Given the description of an element on the screen output the (x, y) to click on. 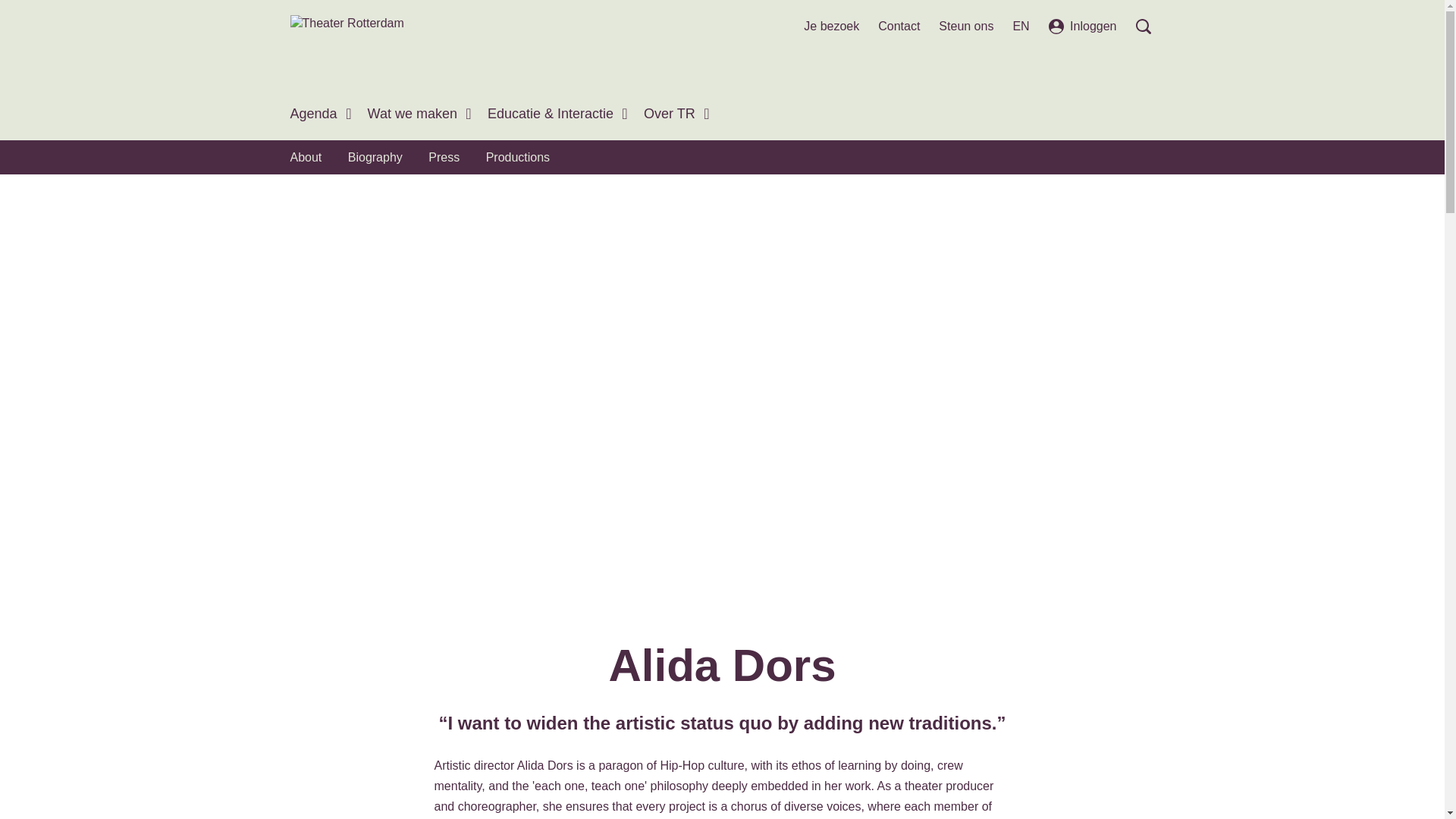
EN (1020, 26)
Contact (899, 26)
Inloggen (1083, 26)
Ga naar homepage (346, 38)
Steun ons (965, 26)
Je bezoek (831, 26)
